Given the description of an element on the screen output the (x, y) to click on. 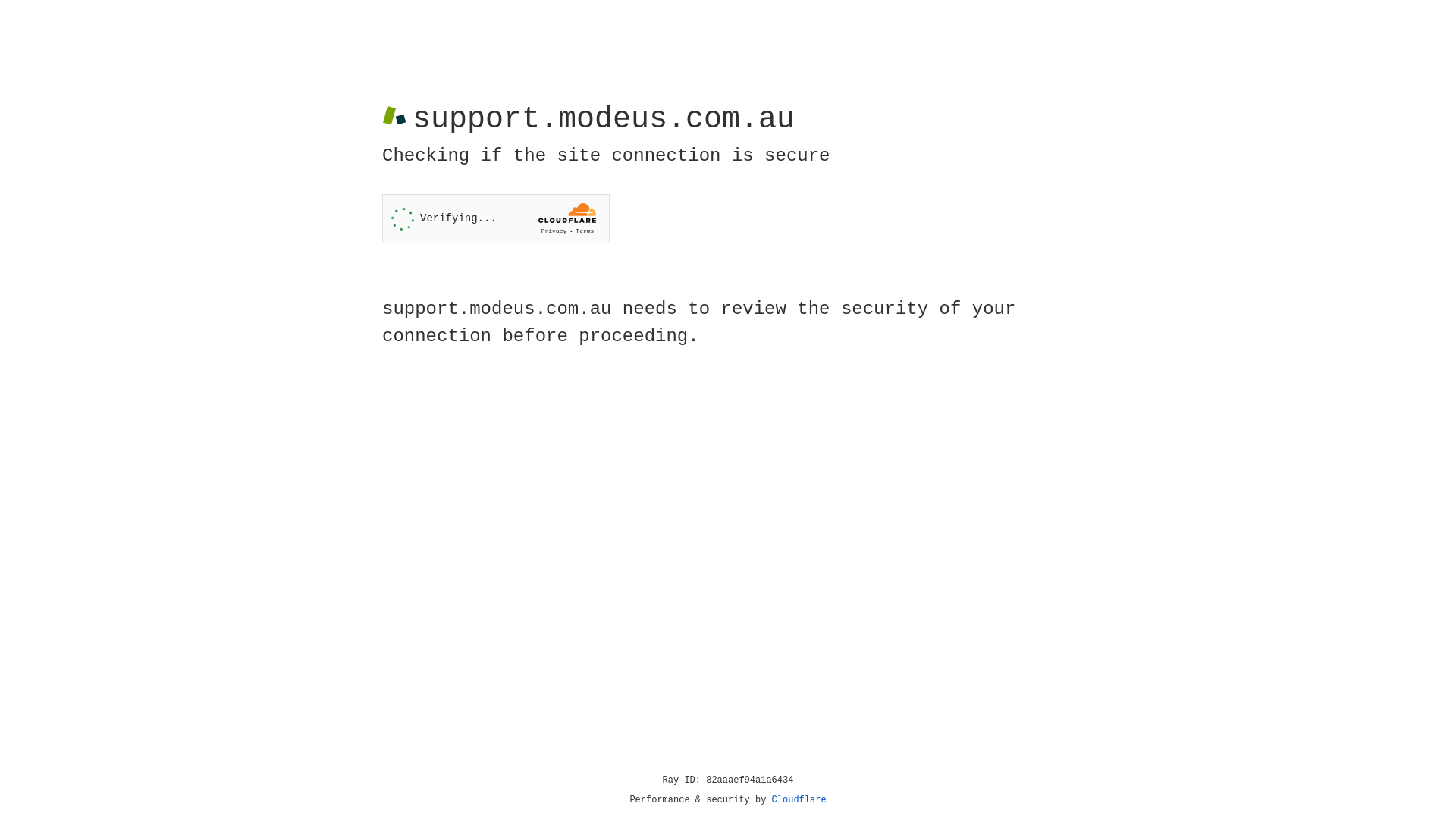
Widget containing a Cloudflare security challenge Element type: hover (495, 218)
Cloudflare Element type: text (798, 799)
